Given the description of an element on the screen output the (x, y) to click on. 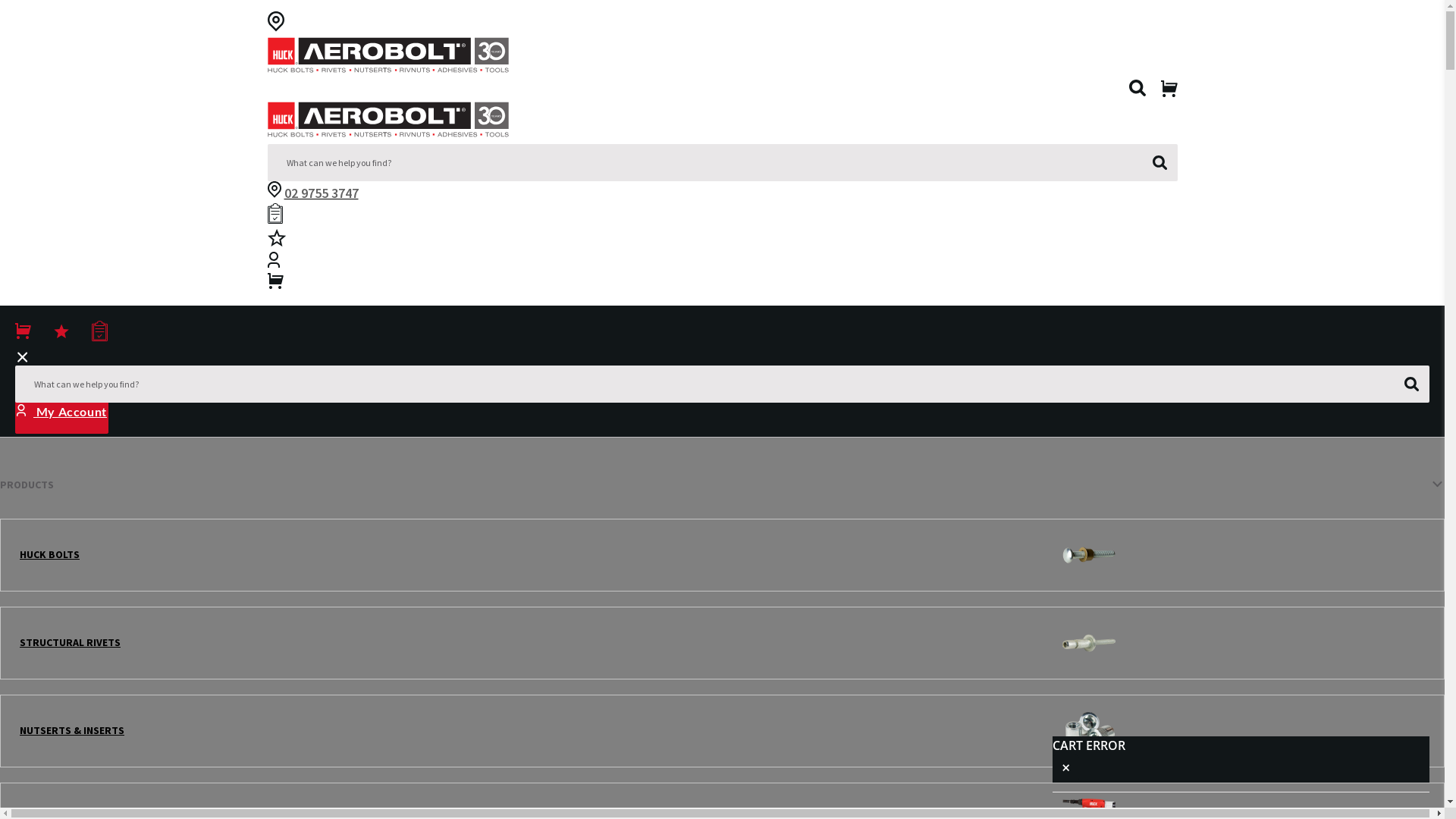
SEARCH Element type: text (1159, 162)
Contact us Element type: hover (273, 192)
My Account Element type: text (61, 411)
Quote list Element type: hover (274, 216)
Huck Aerobolt Element type: hover (387, 122)
02 9755 3747 Element type: text (320, 192)
NUTSERTS & INSERTS Element type: text (722, 730)
Huck Aerobolt Element type: hover (387, 58)
PRODUCTS Element type: text (722, 484)
STRUCTURAL RIVETS Element type: text (722, 642)
Shopping cart Element type: hover (274, 283)
Login Element type: hover (272, 262)
HUCK BOLTS Element type: text (722, 554)
SEARCH Element type: text (1411, 383)
Wishlist Element type: hover (275, 240)
